Given the description of an element on the screen output the (x, y) to click on. 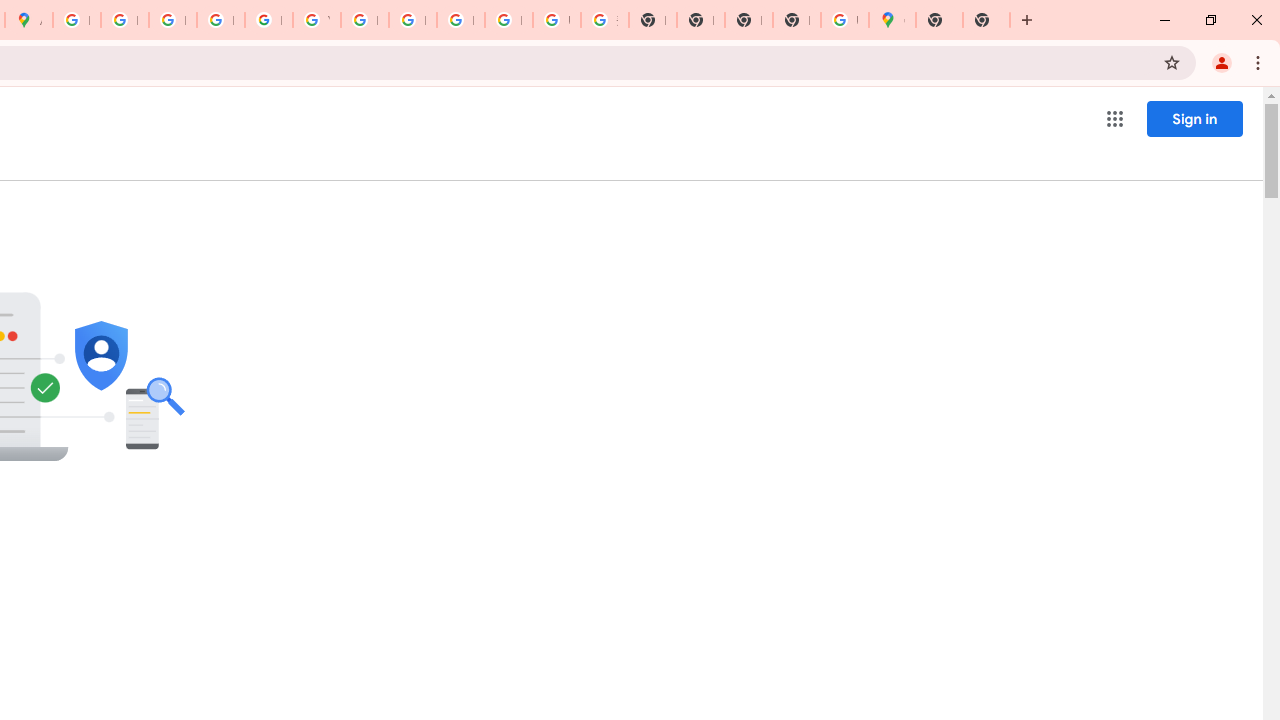
New Tab (985, 20)
New Tab (796, 20)
